Given the description of an element on the screen output the (x, y) to click on. 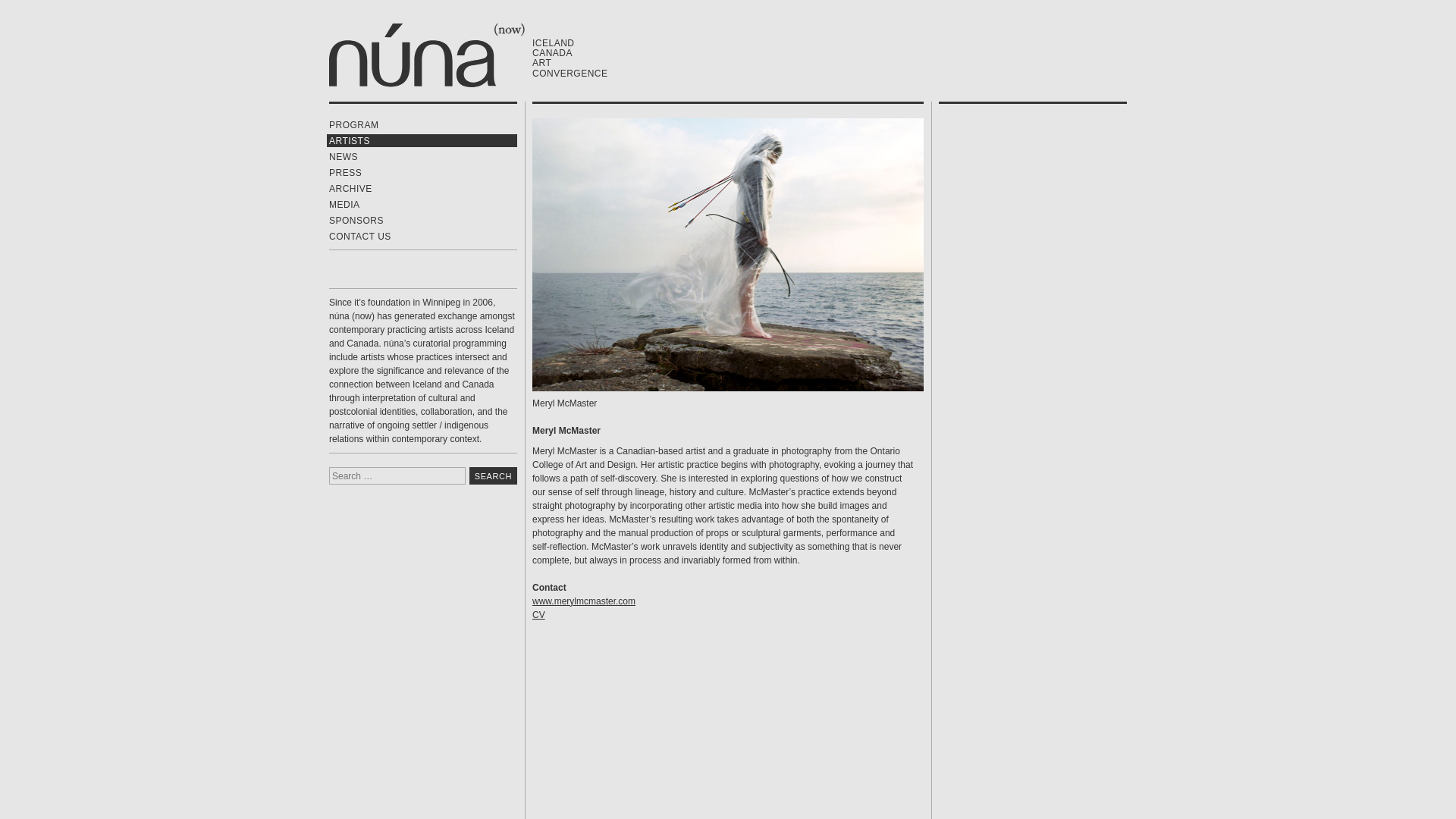
Twitter (366, 269)
Home (426, 54)
SPONSORS (422, 220)
Vimeo (421, 269)
Facebook (339, 269)
CV (538, 614)
CONTACT US (422, 236)
Twitter (366, 269)
Facebook (339, 269)
Instagram (394, 269)
